Given the description of an element on the screen output the (x, y) to click on. 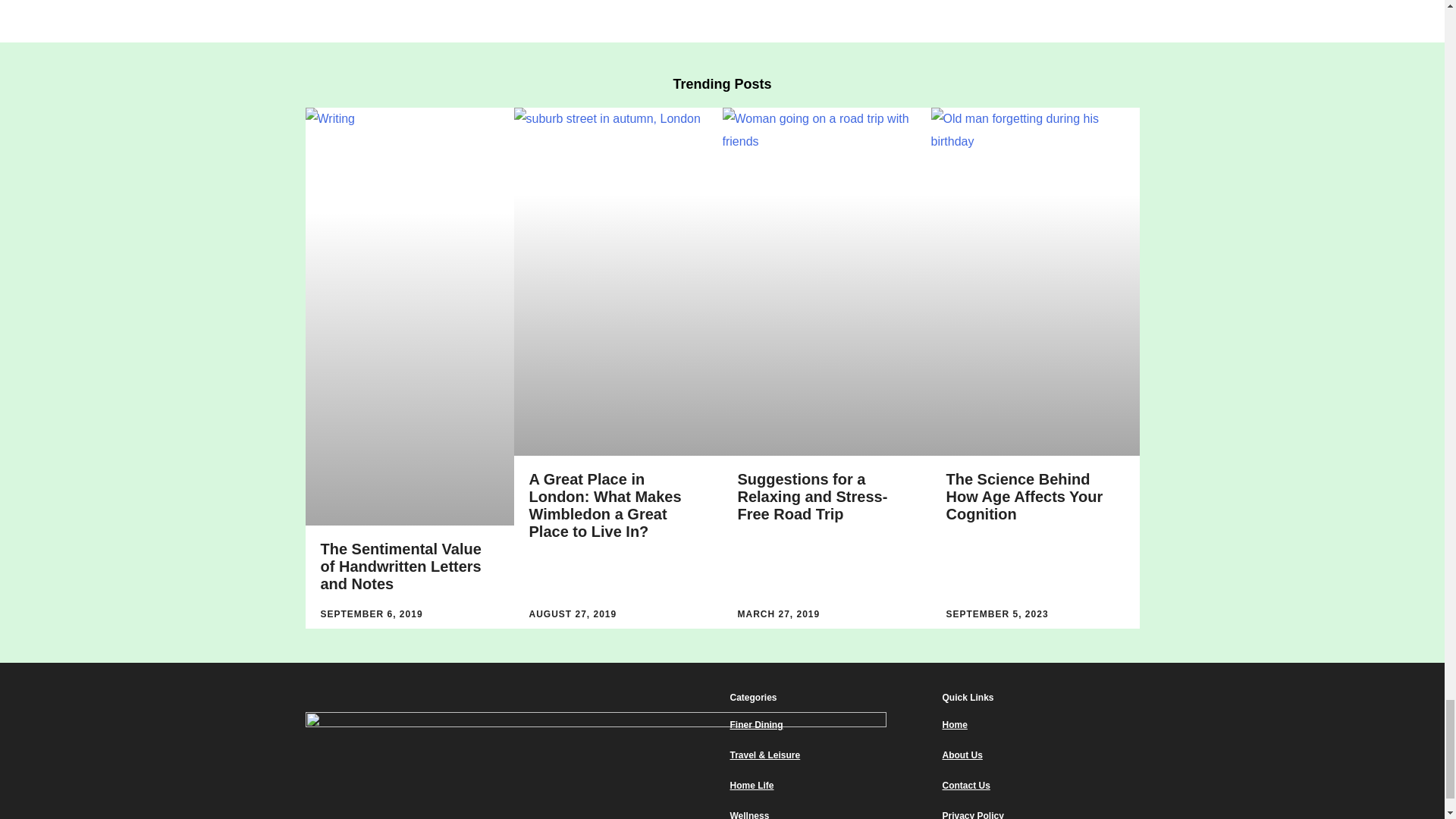
Home (1040, 724)
Finer Dining (827, 724)
Suggestions for a Relaxing and Stress-Free Road Trip (811, 496)
The Sentimental Value of Handwritten Letters and Notes (400, 566)
Home Life (827, 785)
Wellness (827, 813)
The Science Behind How Age Affects Your Cognition (1024, 496)
